Given the description of an element on the screen output the (x, y) to click on. 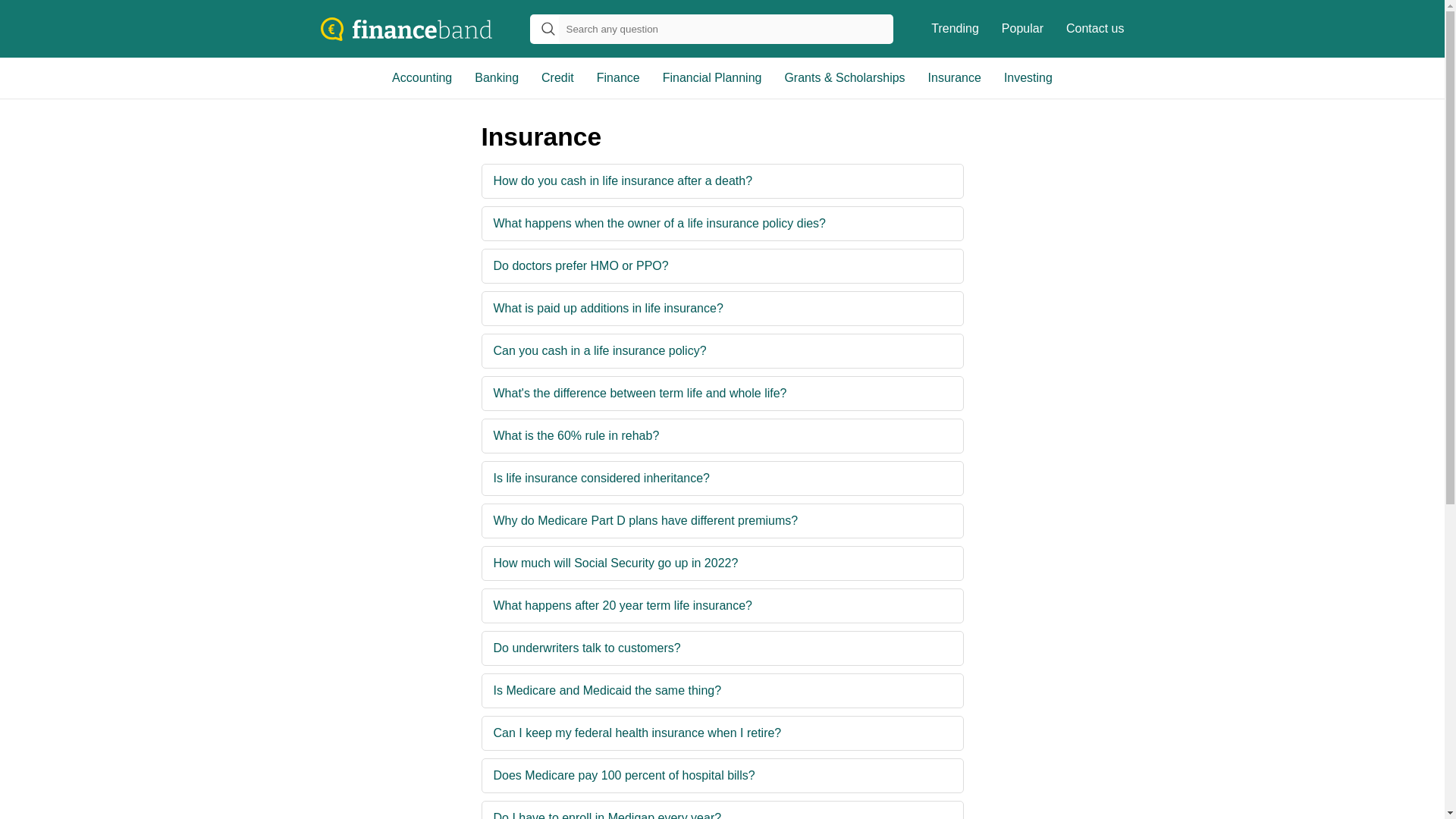
Is Medicare and Medicaid the same thing? (607, 690)
Is life insurance considered inheritance? (601, 478)
What is paid up additions in life insurance? (608, 308)
What happens when the owner of a life insurance policy dies? (659, 223)
Do I have to enroll in Medigap every year? (607, 810)
Finance (617, 77)
How do you cash in life insurance after a death? (622, 181)
Can I keep my federal health insurance when I retire? (637, 733)
Why do Medicare Part D plans have different premiums? (645, 520)
Do underwriters talk to customers? (587, 648)
What's the difference between term life and whole life? (639, 393)
Investing (1028, 77)
Accounting (421, 77)
How much will Social Security go up in 2022? (615, 563)
Contact us (1094, 28)
